Given the description of an element on the screen output the (x, y) to click on. 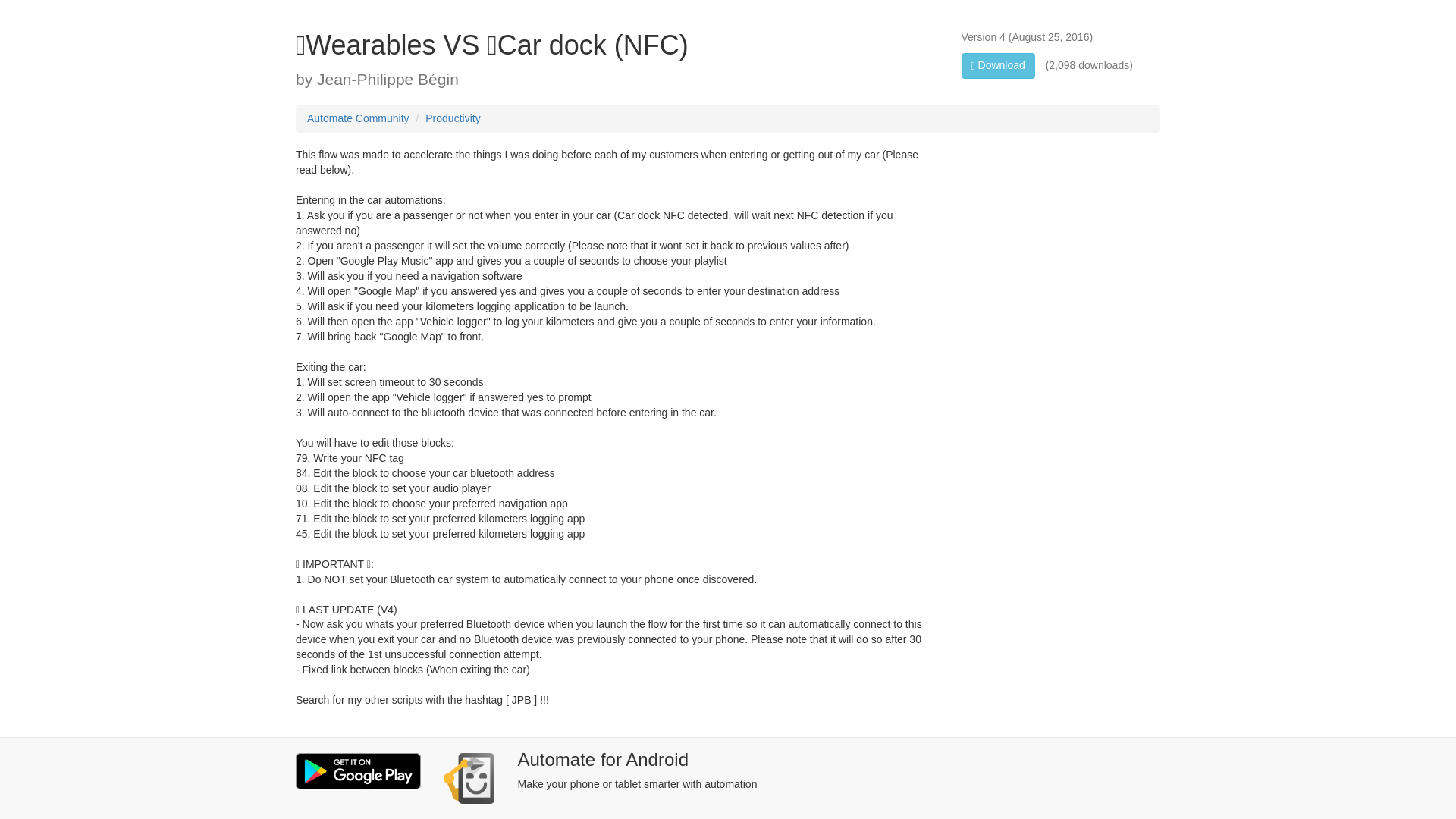
Productivity (452, 118)
Automate Community (358, 118)
Download (997, 65)
